Given the description of an element on the screen output the (x, y) to click on. 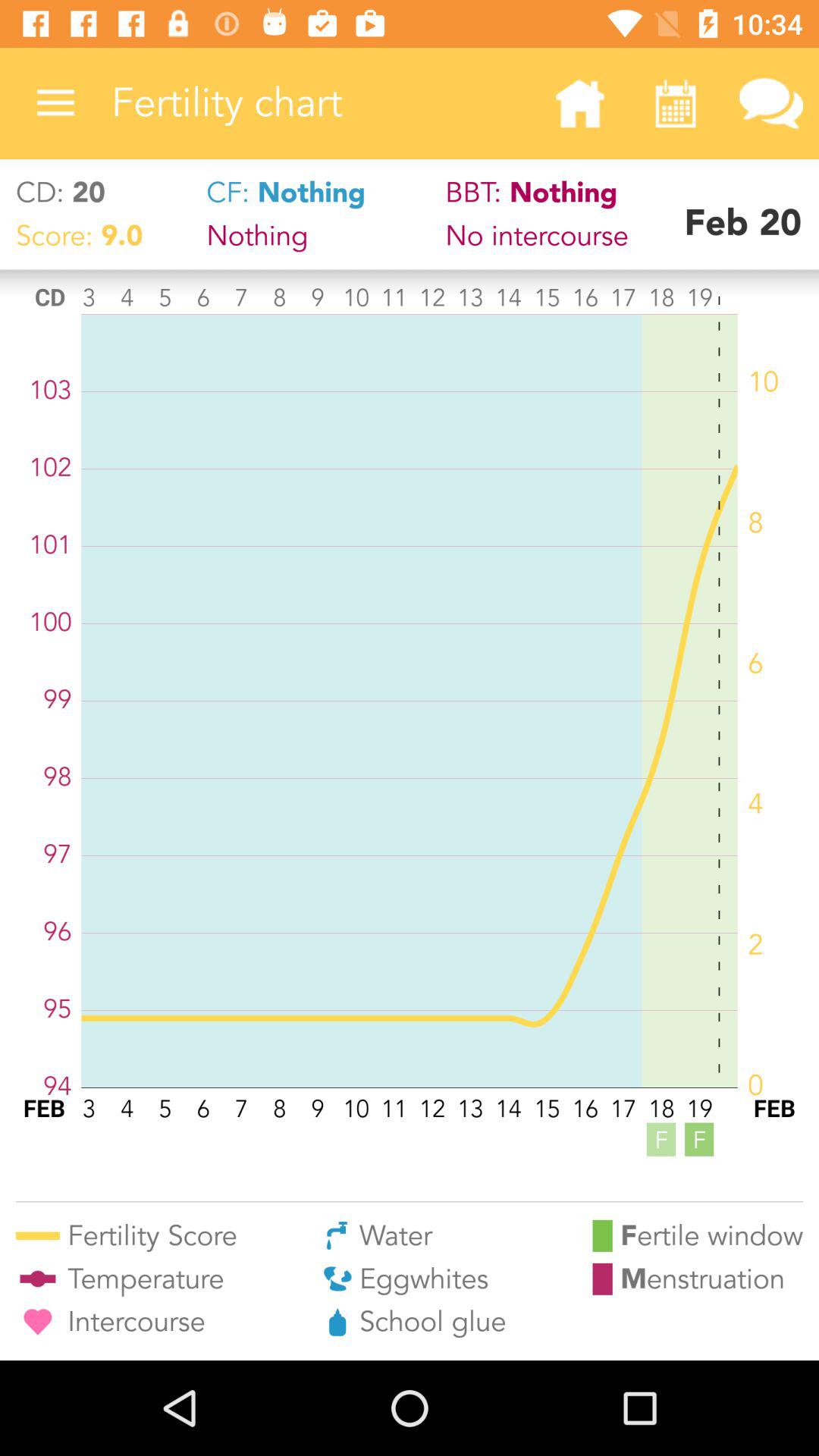
turn on the icon above the cd: 20 icon (55, 103)
